Given the description of an element on the screen output the (x, y) to click on. 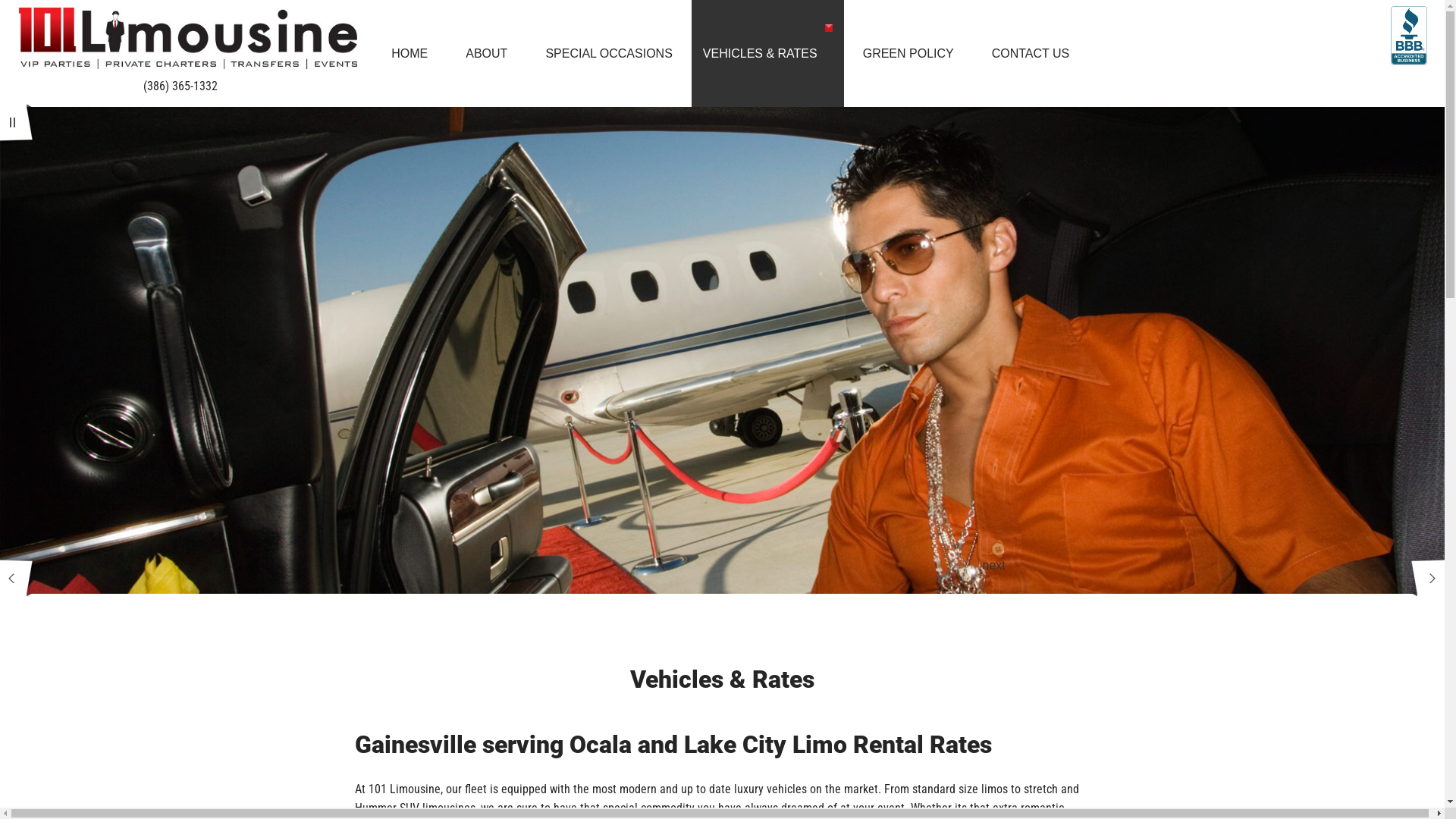
HOME Element type: text (409, 53)
GREEN POLICY Element type: text (908, 53)
next Element type: text (1427, 576)
airport pick up Element type: text (767, 133)
CONTACT US Element type: text (1030, 53)
SPECIAL OCCASIONS Element type: text (608, 53)
(386) 365-1332 Element type: text (180, 53)
weddings Element type: text (767, 186)
VEHICLES & RATES Element type: text (767, 53)
ABOUT Element type: text (486, 53)
